Given the description of an element on the screen output the (x, y) to click on. 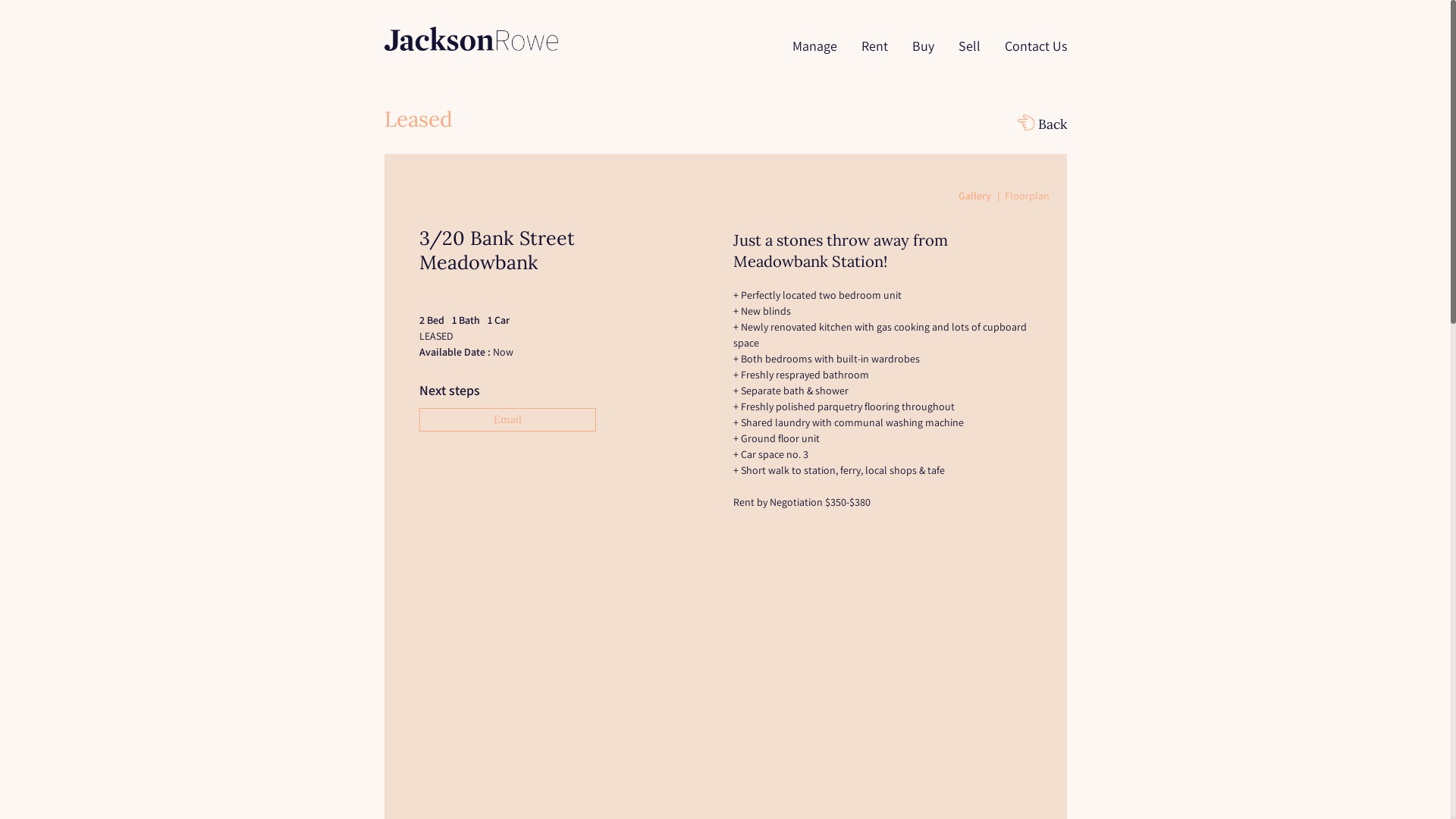
Gallery Element type: text (980, 195)
Email Element type: text (506, 419)
Floorplan Element type: text (1026, 195)
Manage Element type: text (813, 55)
Back Element type: text (1041, 124)
Rent Element type: text (874, 55)
Jackson Rowe -  Element type: hover (470, 38)
Buy Element type: text (922, 55)
Sell Element type: text (969, 55)
Contact Us Element type: text (1028, 55)
